Given the description of an element on the screen output the (x, y) to click on. 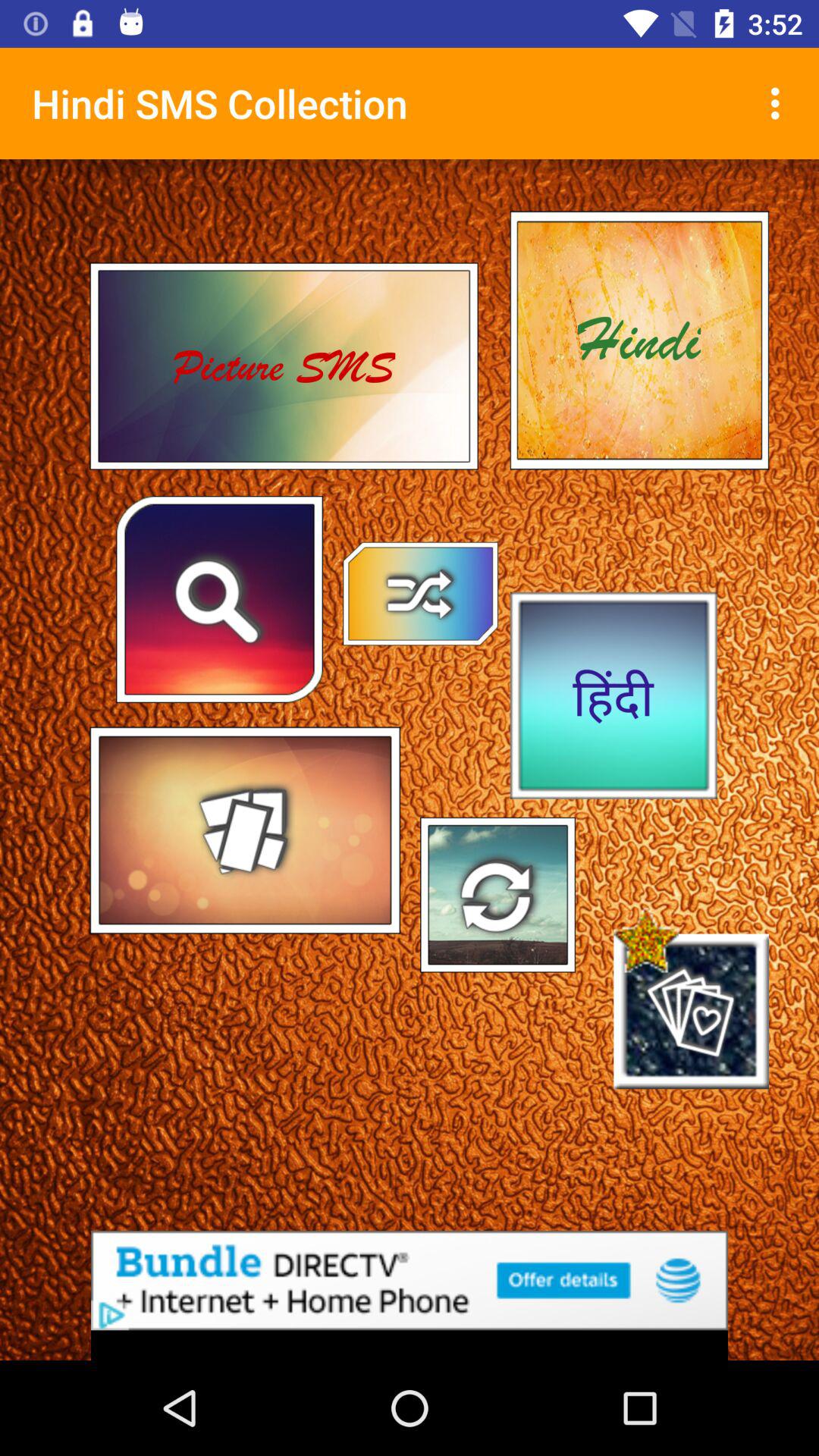
click on the 3 dots option on the top (779, 103)
click on the playing cards icon (690, 1010)
